Given the description of an element on the screen output the (x, y) to click on. 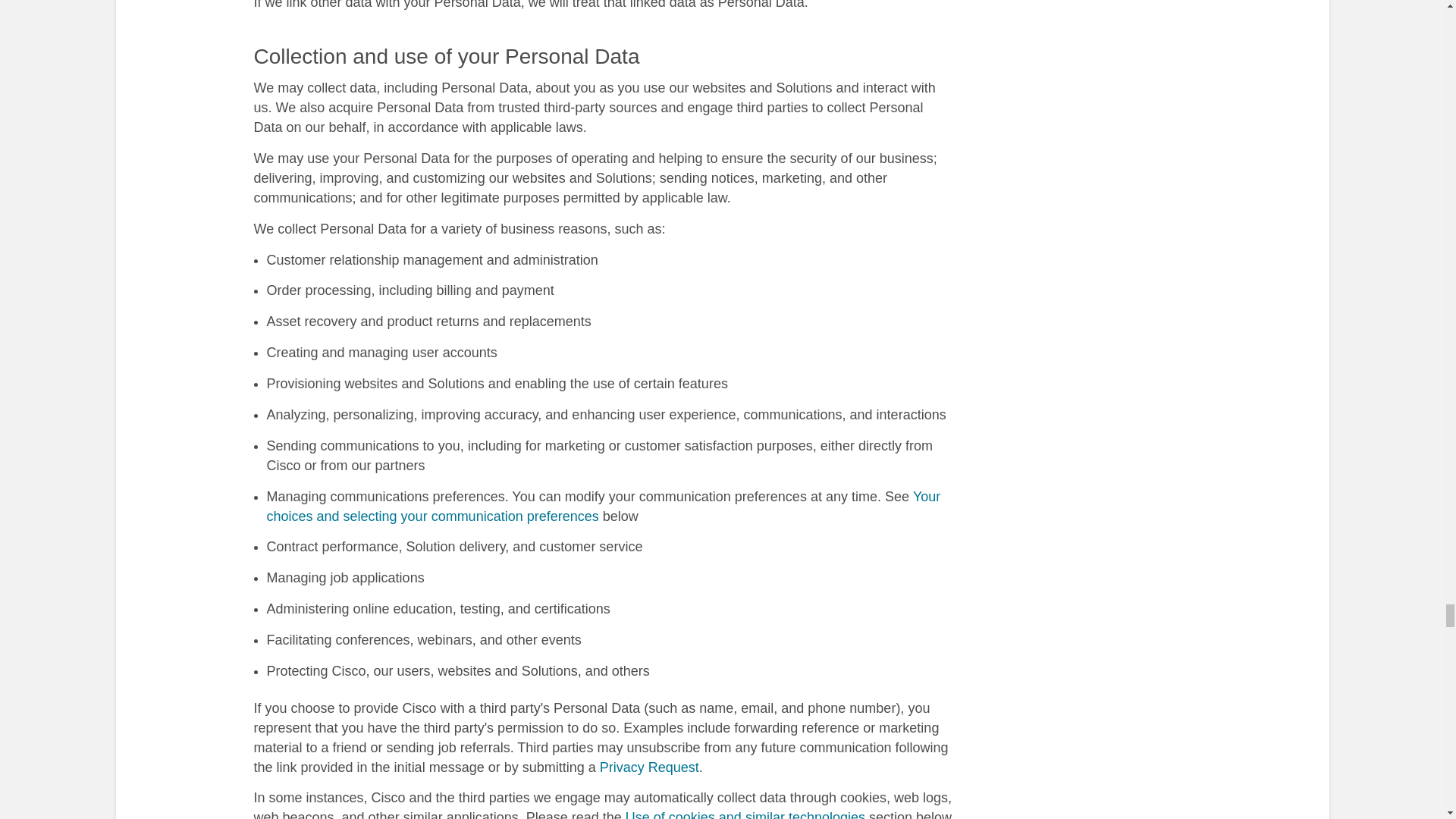
Privacy Request (648, 767)
Use of cookies and similar technologies (745, 814)
Your choices and selecting your communication preferences (603, 506)
